Given the description of an element on the screen output the (x, y) to click on. 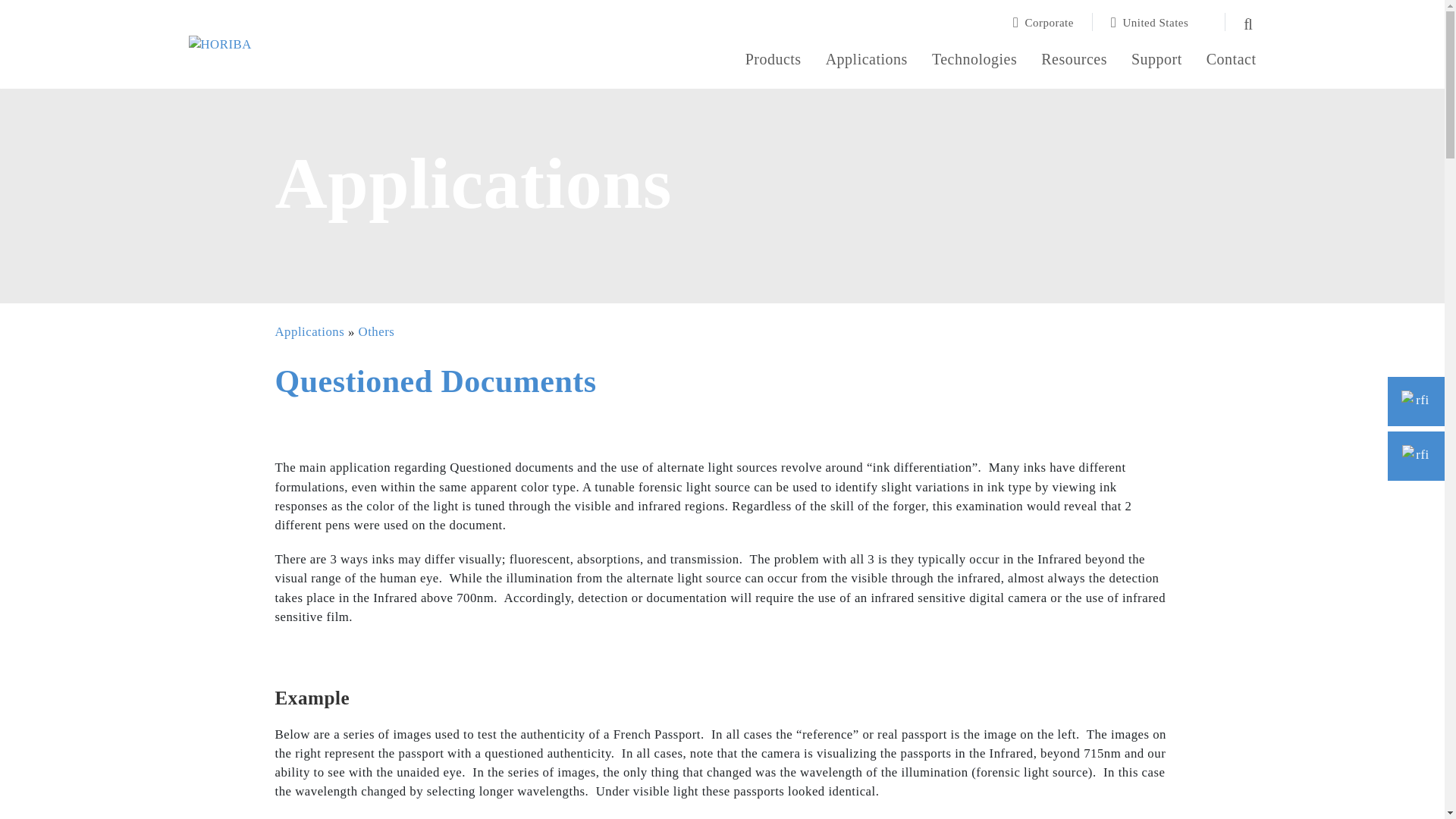
Products (773, 61)
Applications (866, 61)
Support (1156, 61)
Corporate (1053, 22)
Technologies (973, 61)
United States (1159, 22)
Contact (1231, 61)
Resources (1073, 61)
Products (773, 61)
